Given the description of an element on the screen output the (x, y) to click on. 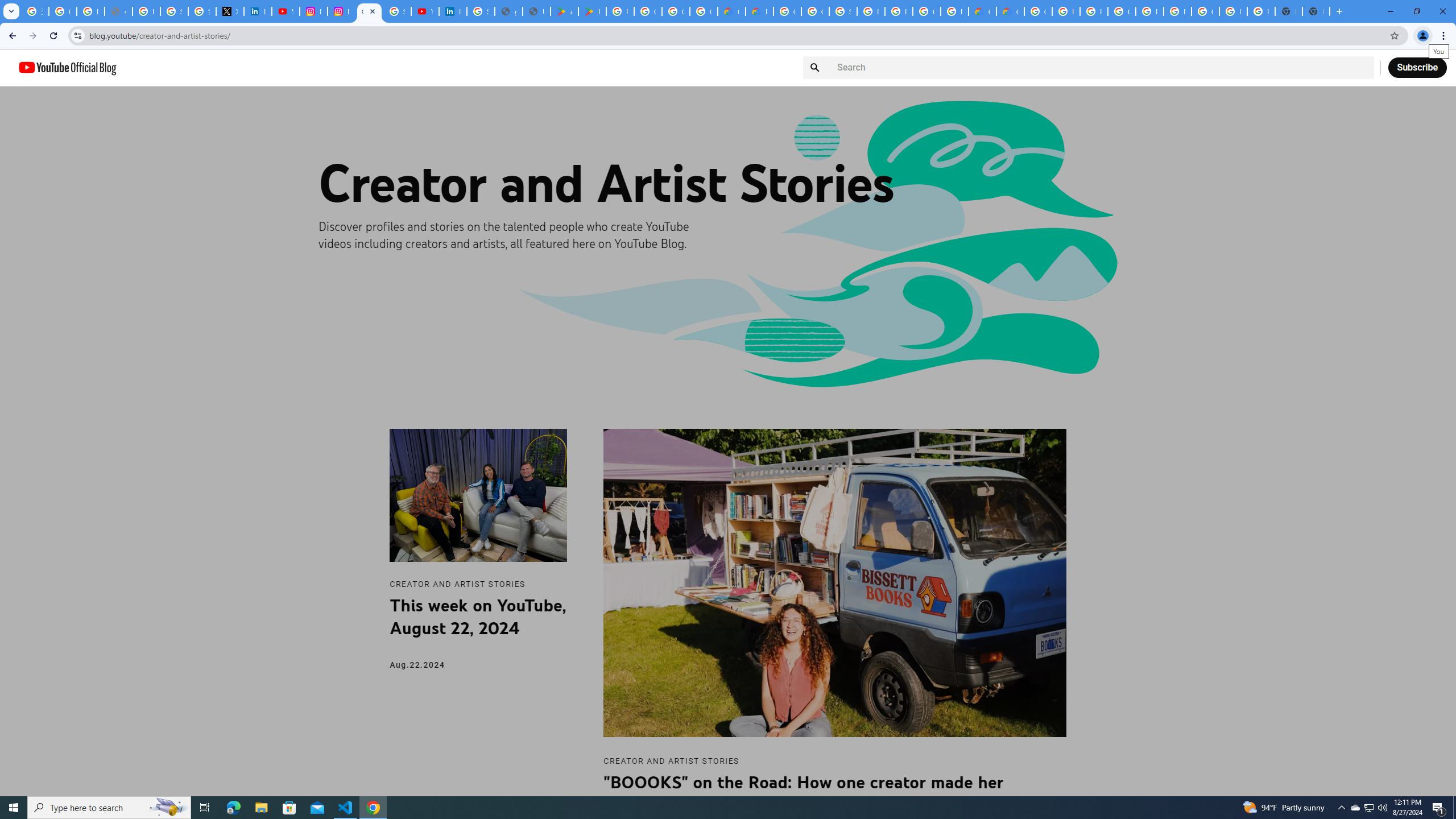
Sign in - Google Accounts (842, 11)
Google Cloud Platform (1205, 11)
Android Apps on Google Play (564, 11)
support.google.com - Network error (118, 11)
User Details (536, 11)
